Given the description of an element on the screen output the (x, y) to click on. 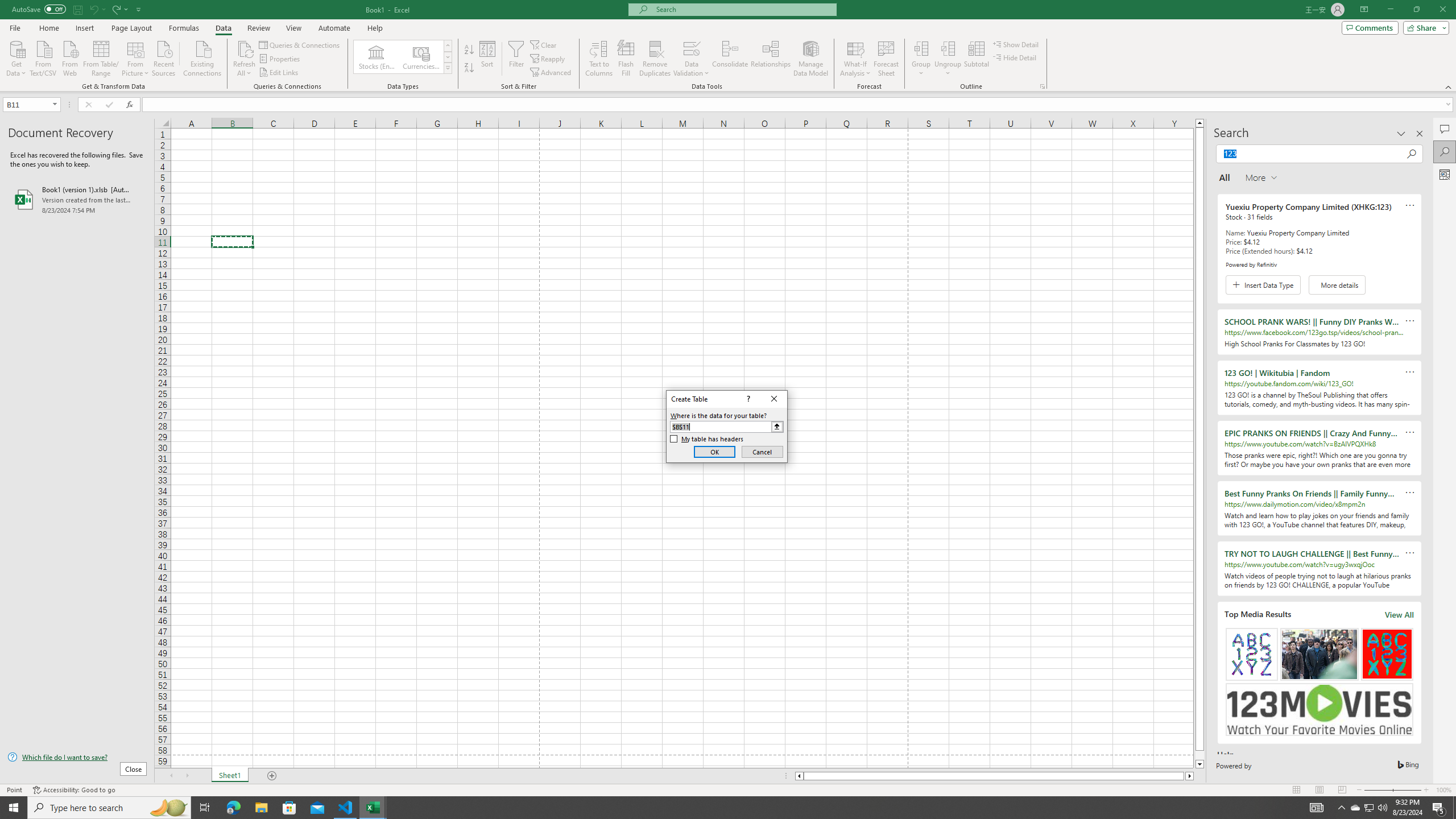
Class: NetUIImage (447, 68)
Type here to search (108, 807)
Group and Outline Settings (1042, 85)
Which file do I want to save? (77, 757)
